Given the description of an element on the screen output the (x, y) to click on. 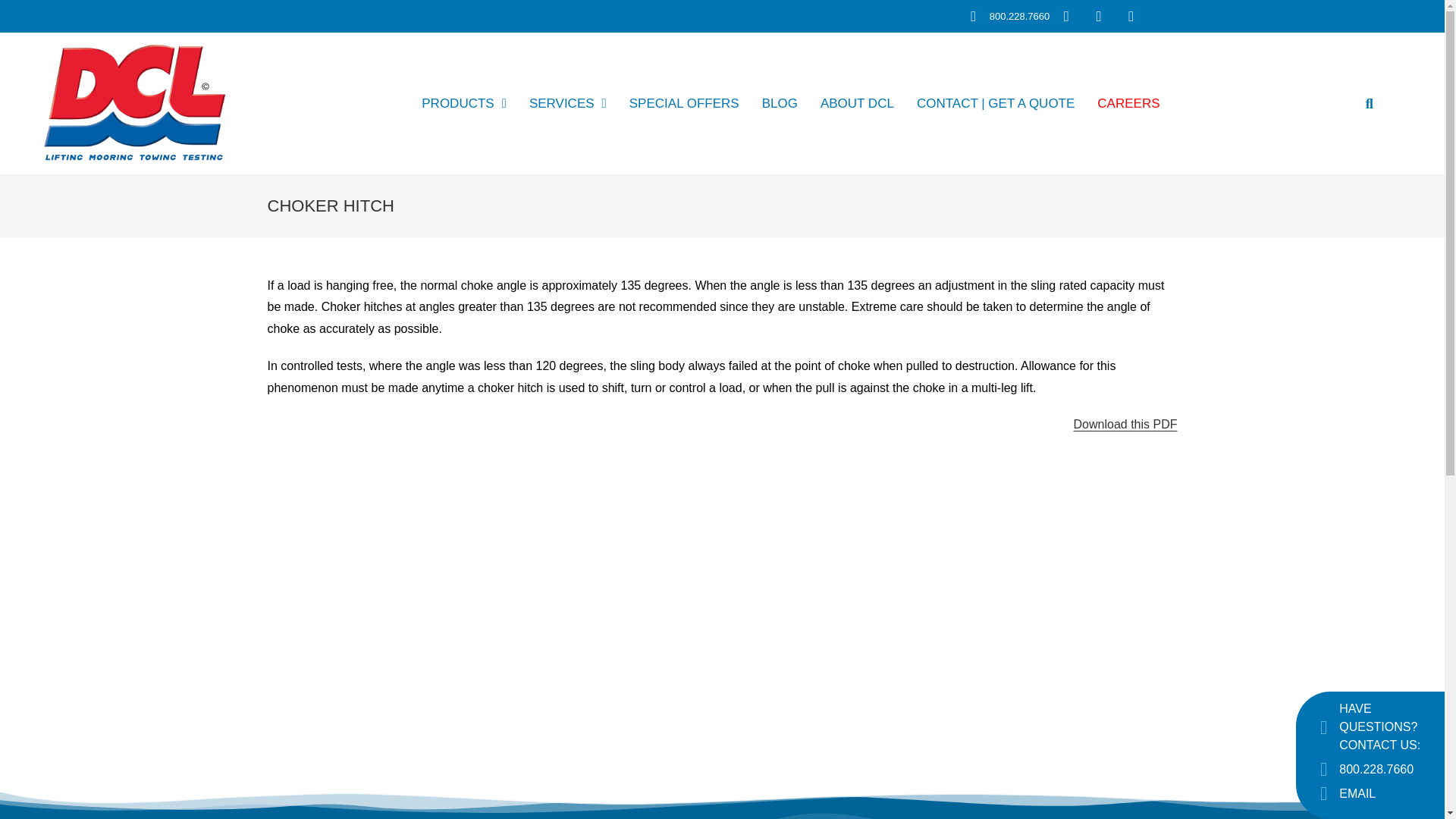
PRODUCTS (464, 103)
CAREERS (1128, 103)
BLOG (780, 103)
ABOUT DCL (857, 103)
SERVICES (567, 103)
SPECIAL OFFERS (684, 103)
800.228.7660 (1006, 16)
